Given the description of an element on the screen output the (x, y) to click on. 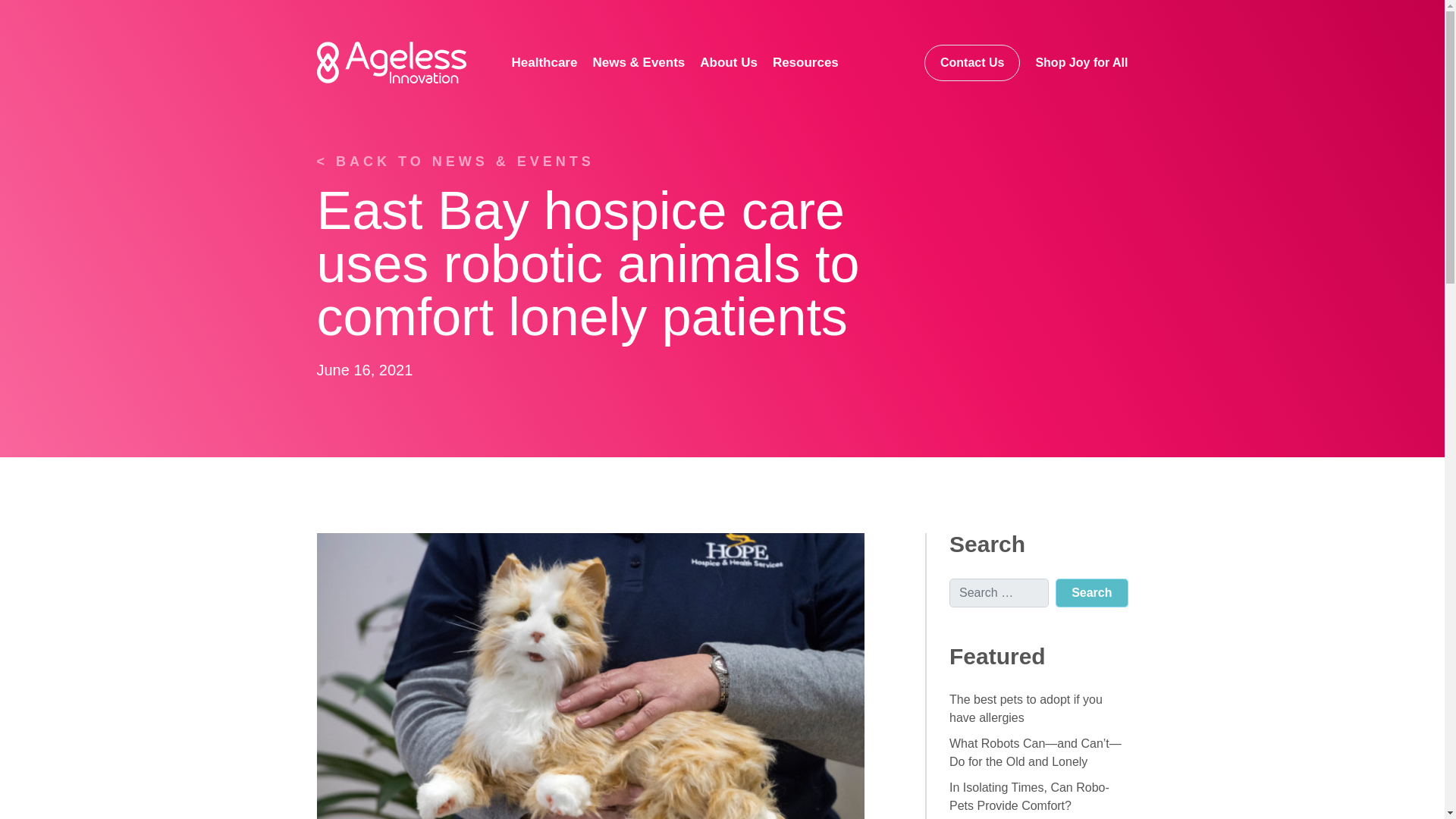
Shop Joy for All (1080, 62)
About Us (729, 62)
About Us (729, 62)
Resources (805, 62)
Healthcare (544, 62)
Healthcare (544, 62)
Contact Us (972, 62)
Search (1090, 592)
Resources (805, 62)
Search (1090, 592)
The best pets to adopt if you have allergies (1025, 707)
In Isolating Times, Can Robo-Pets Provide Comfort? (1029, 796)
Search (1090, 592)
